Given the description of an element on the screen output the (x, y) to click on. 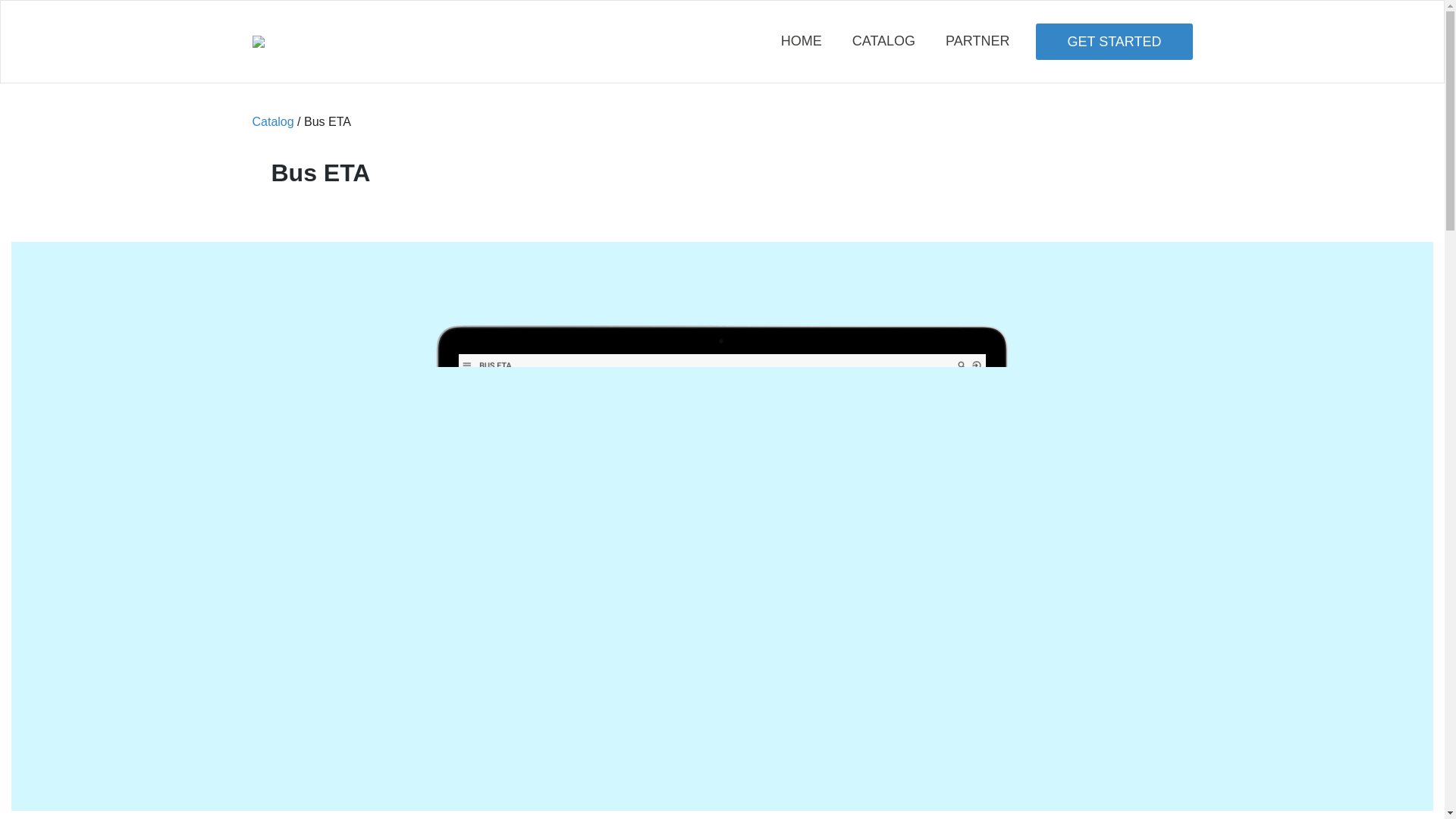
PARTNER (977, 40)
Partner (977, 40)
CATALOG (883, 40)
Catalog (272, 121)
GET STARTED (1113, 41)
HOME (801, 40)
Catalog (883, 40)
Home (801, 40)
